Given the description of an element on the screen output the (x, y) to click on. 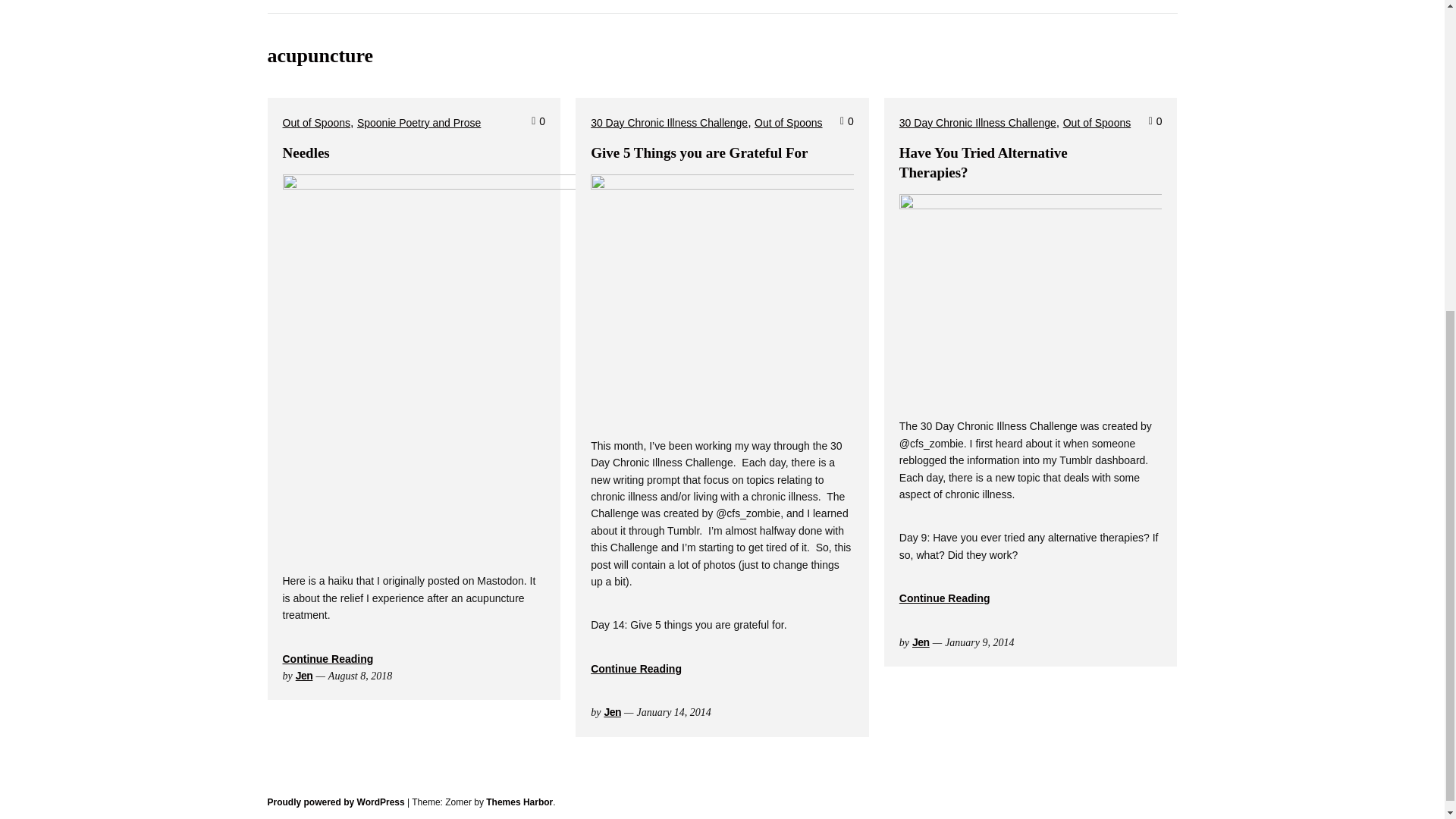
Have You Tried Alternative Therapies? (983, 162)
Jen (304, 675)
Proudly powered by WordPress (335, 801)
Themes Harbor (519, 801)
Needles (305, 152)
30 Day Chronic Illness Challenge (669, 122)
Out of Spoons (316, 122)
Spoonie Poetry and Prose (418, 122)
Out of Spoons (1096, 122)
Out of Spoons (788, 122)
